Given the description of an element on the screen output the (x, y) to click on. 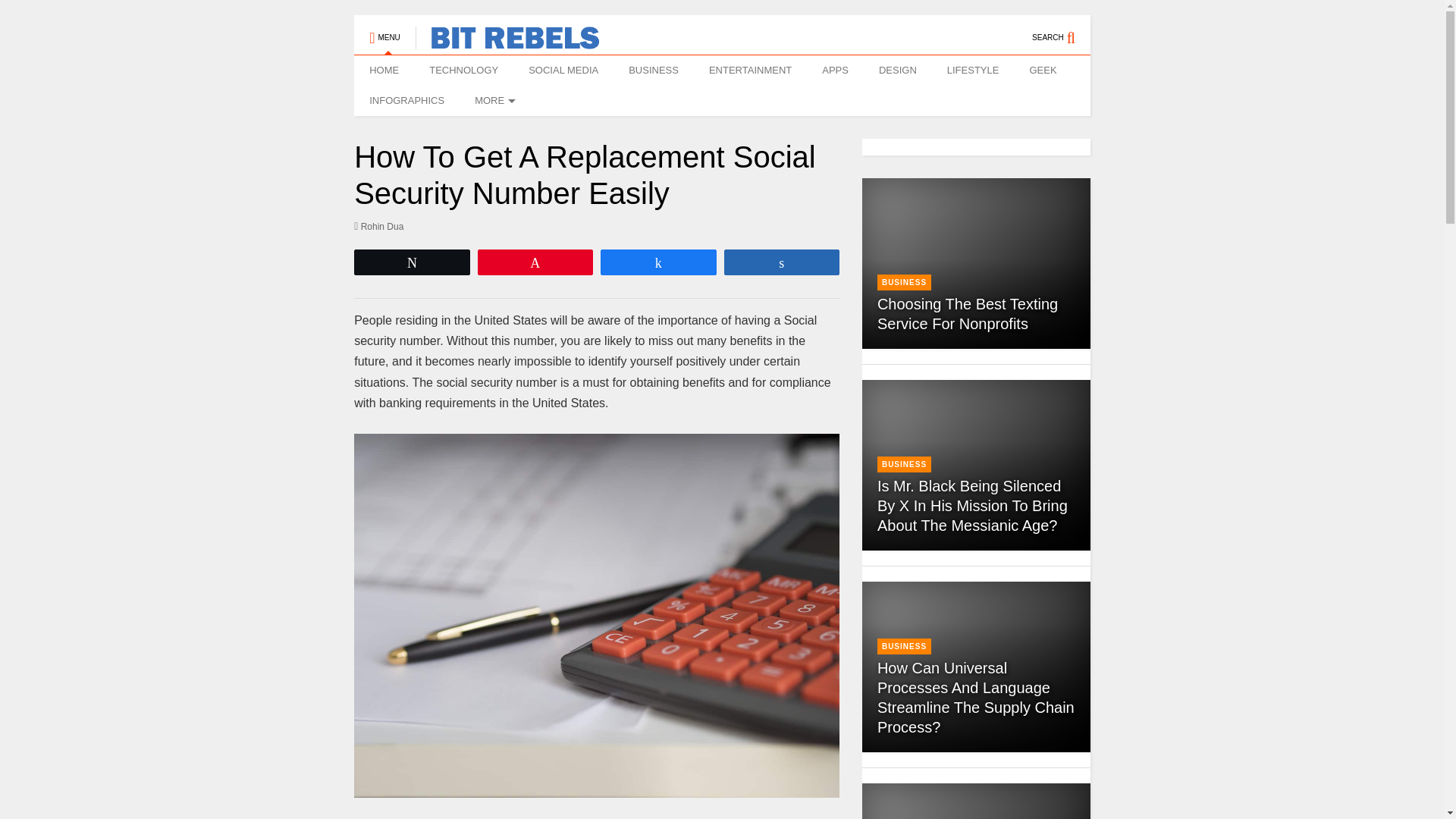
MENU (383, 30)
Bit Rebels (506, 42)
BUSINESS (653, 70)
GEEK (1042, 70)
SOCIAL MEDIA (562, 70)
TECHNOLOGY (463, 70)
LIFESTYLE (972, 70)
HOME (383, 70)
MORE (493, 100)
SEARCH (1061, 30)
DESIGN (897, 70)
INFOGRAPHICS (406, 100)
ENTERTAINMENT (750, 70)
